Given the description of an element on the screen output the (x, y) to click on. 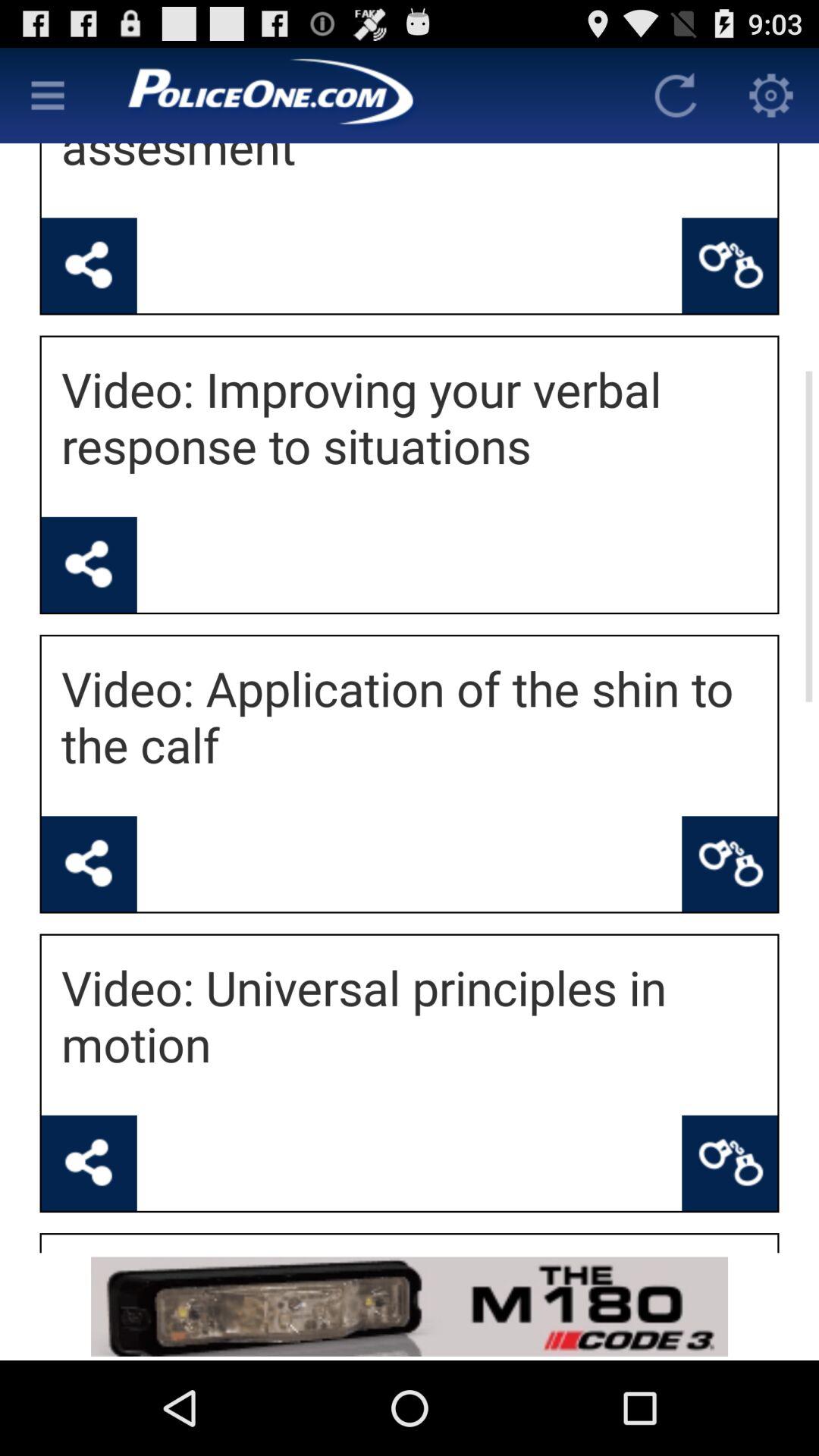
share the video on social media (89, 863)
